Given the description of an element on the screen output the (x, y) to click on. 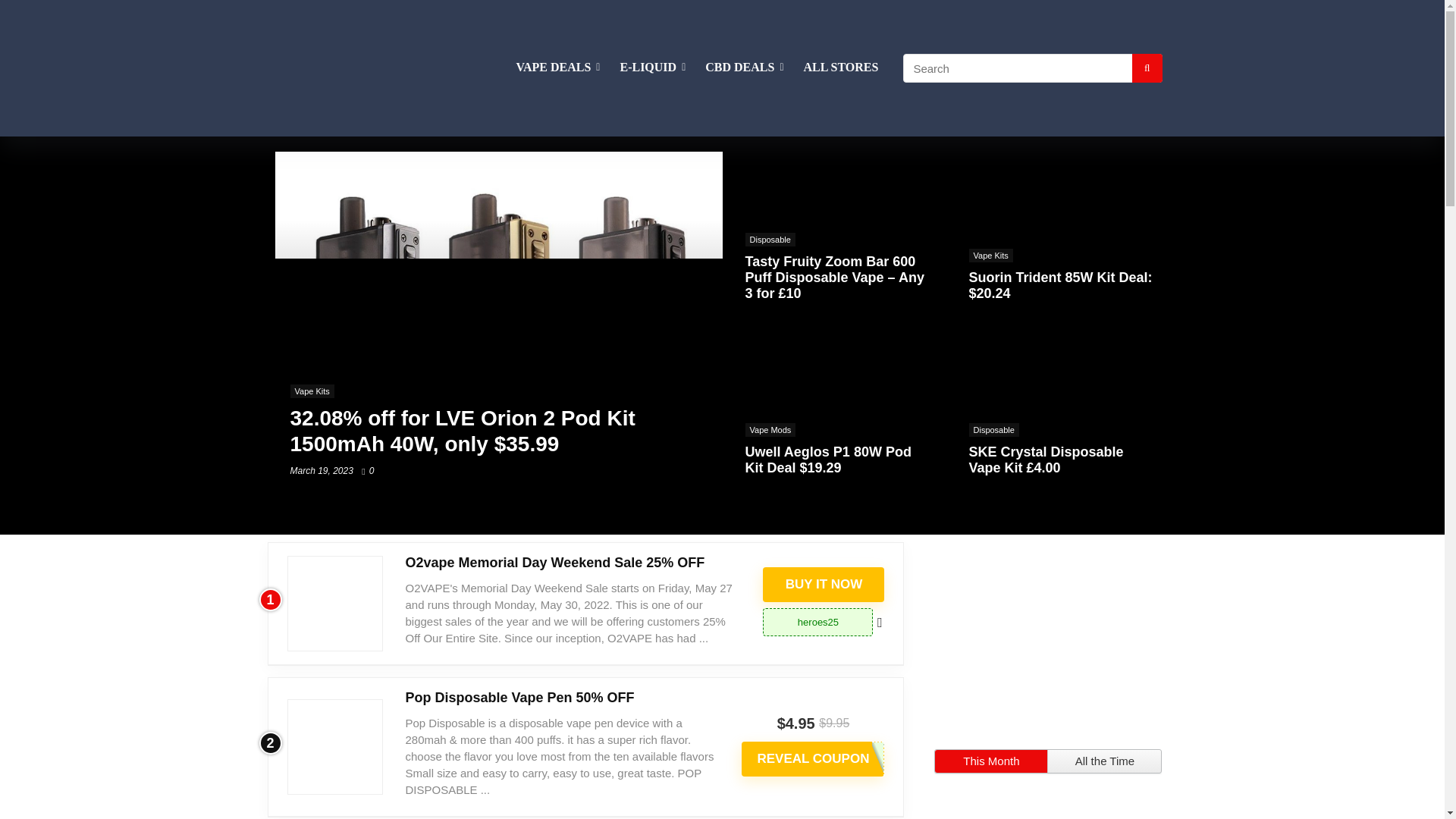
CBD DEALS (744, 68)
ALL STORES (840, 68)
E-LIQUID (652, 68)
Vape Kits (311, 391)
Disposable (994, 429)
VAPE DEALS (558, 68)
Disposable (769, 239)
BUY IT NOW (822, 584)
Vape Kits (991, 255)
Vape Mods (769, 429)
